Given the description of an element on the screen output the (x, y) to click on. 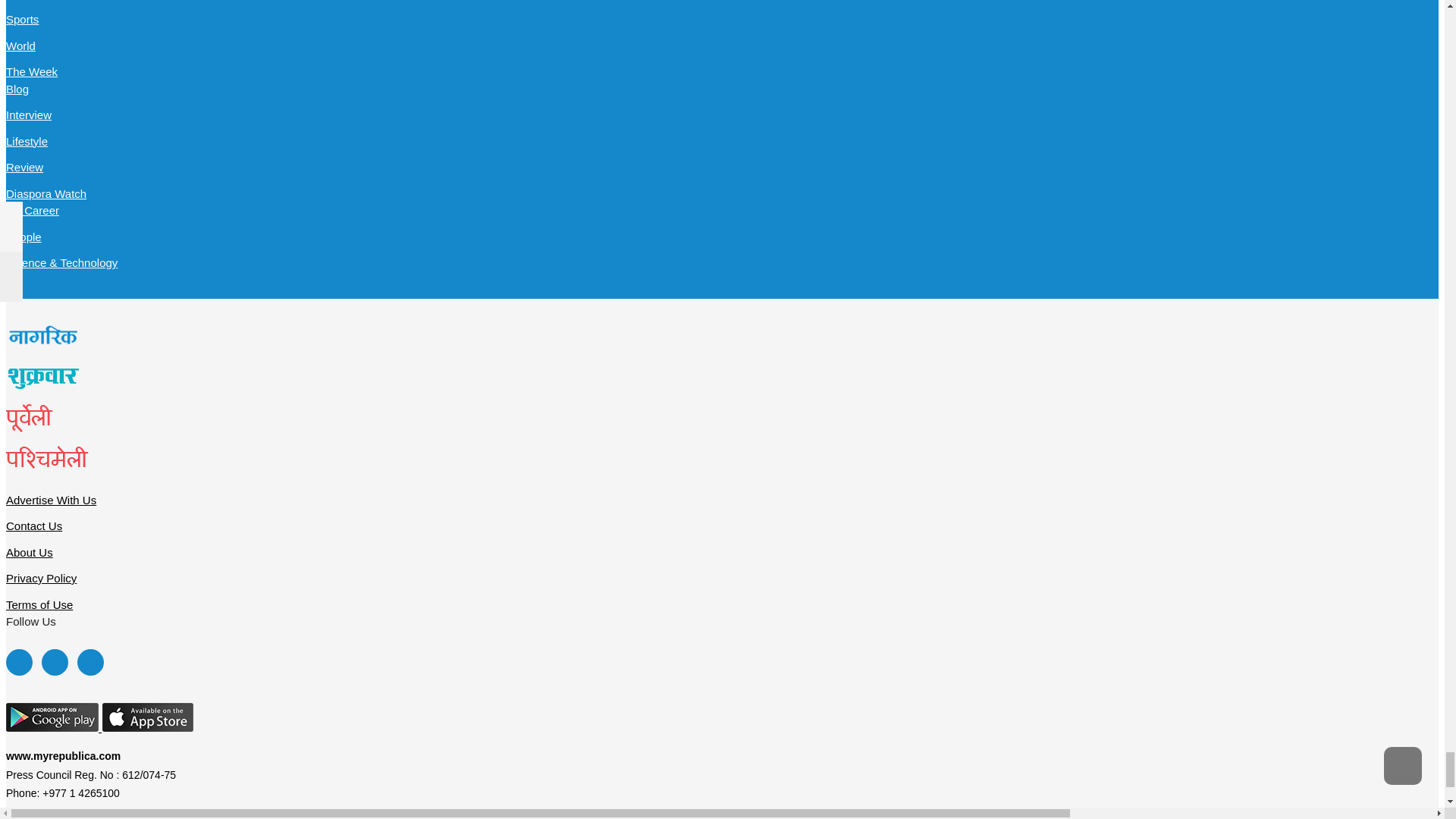
Facebook (18, 662)
Youtube (90, 662)
Twitter (55, 662)
